Given the description of an element on the screen output the (x, y) to click on. 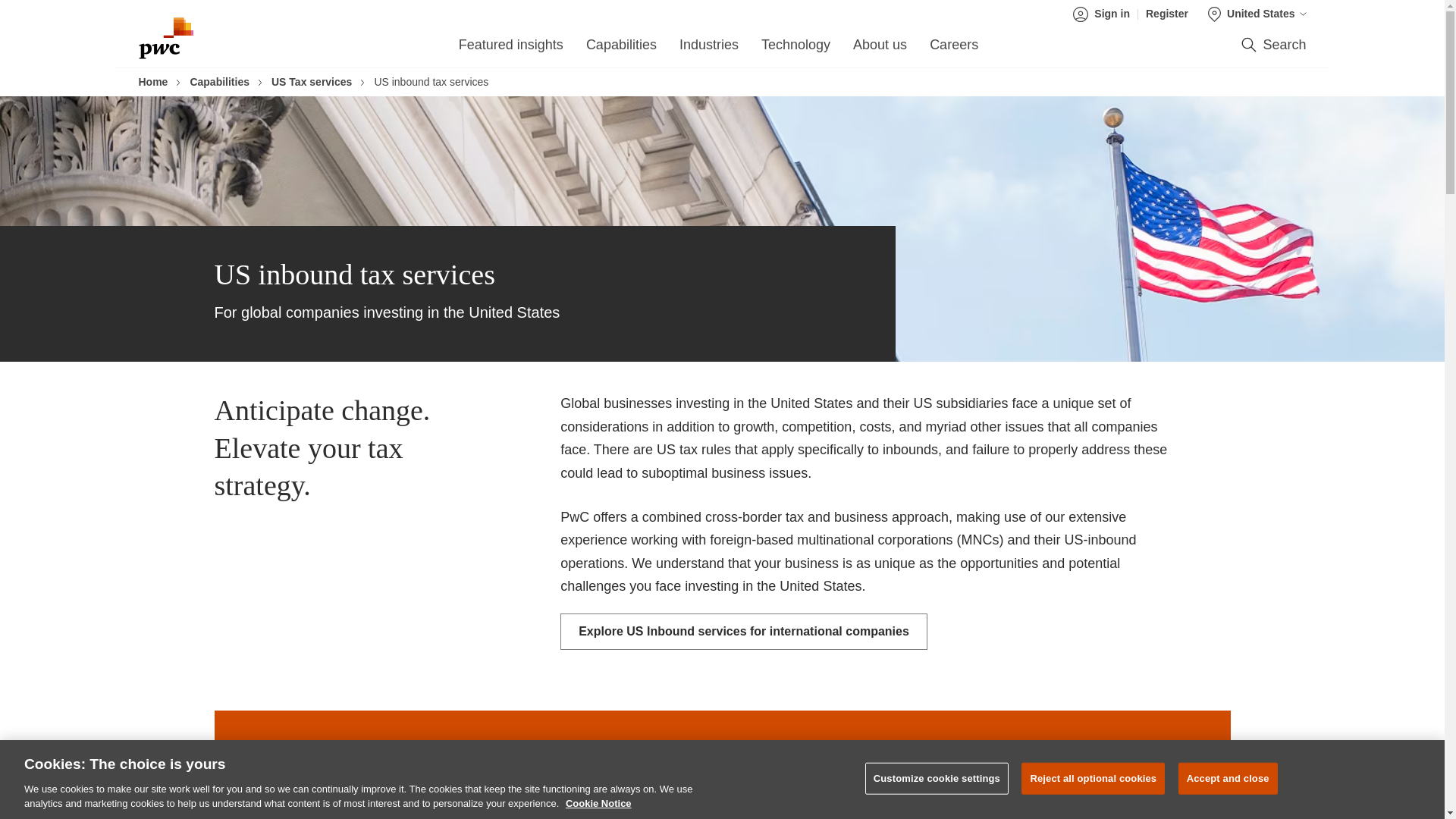
United States (1257, 13)
Featured insights (510, 49)
Technology (795, 49)
Capabilities (621, 49)
Careers (954, 49)
Industries (708, 49)
Register (1166, 13)
Sign in (1105, 13)
About us (880, 49)
